Given the description of an element on the screen output the (x, y) to click on. 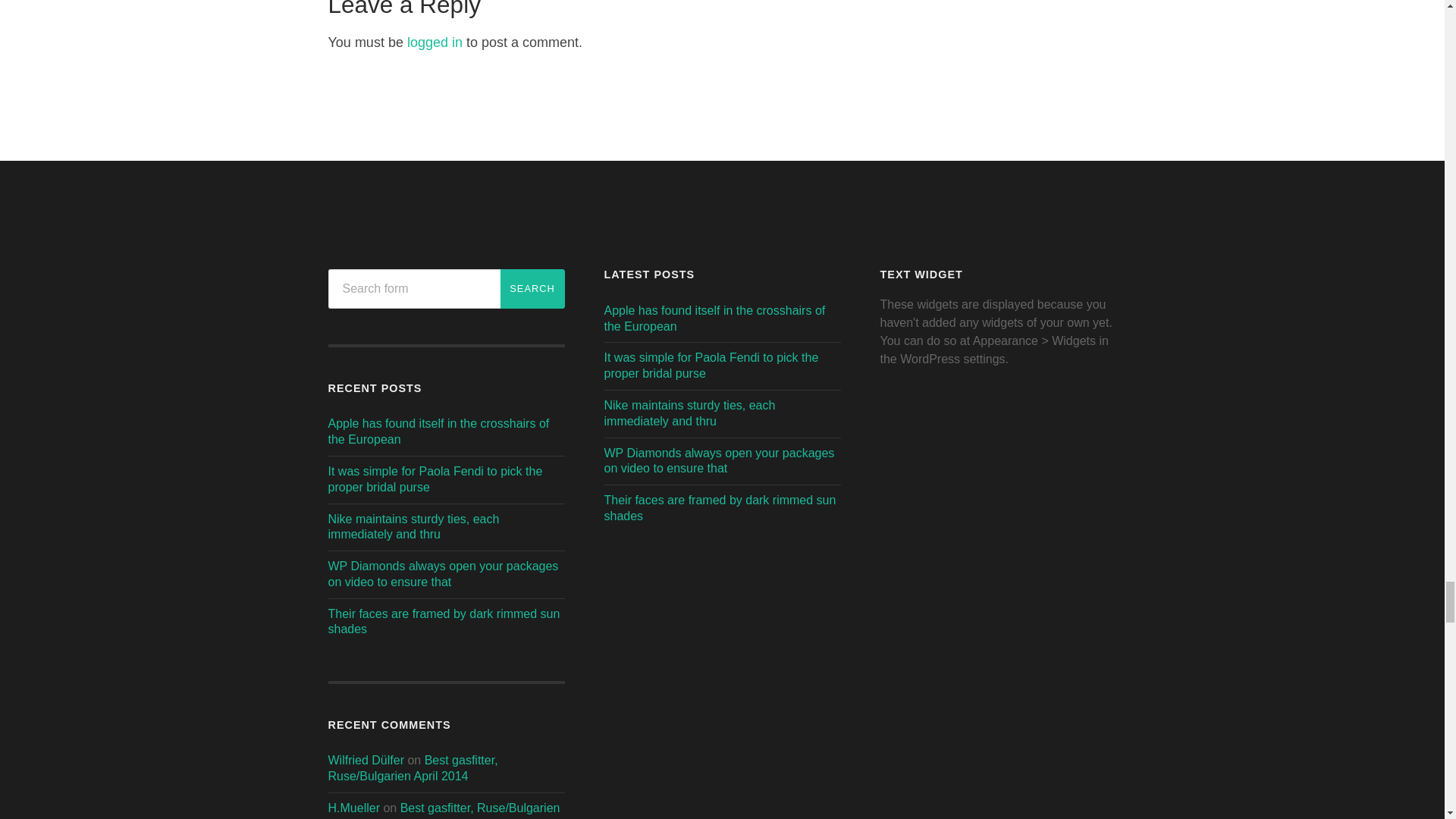
Search (532, 288)
Search (532, 288)
logged in (435, 42)
